Given the description of an element on the screen output the (x, y) to click on. 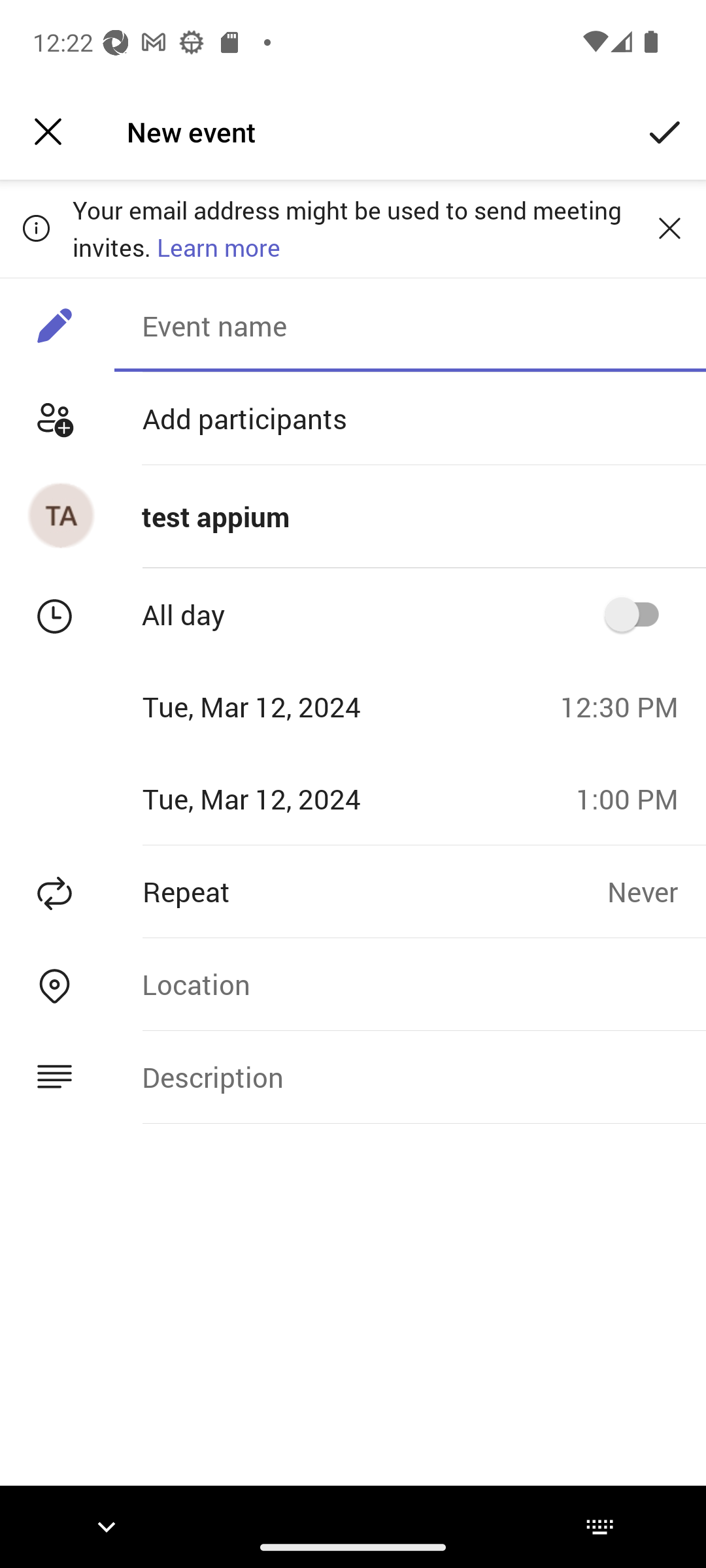
Back (48, 131)
Send invite (665, 131)
Dismiss banner (669, 228)
Event name (410, 325)
Add participants Add participants option (353, 418)
All day (638, 614)
Tue, Mar 12, 2024 Starts Tuesday Mar 12, 2024 (273, 706)
12:30 PM Start time 12:30 PM (626, 706)
Tue, Mar 12, 2024 Ends Tuesday Mar 12, 2024 (280, 798)
1:00 PM End time 1:00 PM (633, 798)
Repeat (303, 891)
Never Repeat Never (656, 891)
Location (410, 983)
Description (410, 1076)
